Given the description of an element on the screen output the (x, y) to click on. 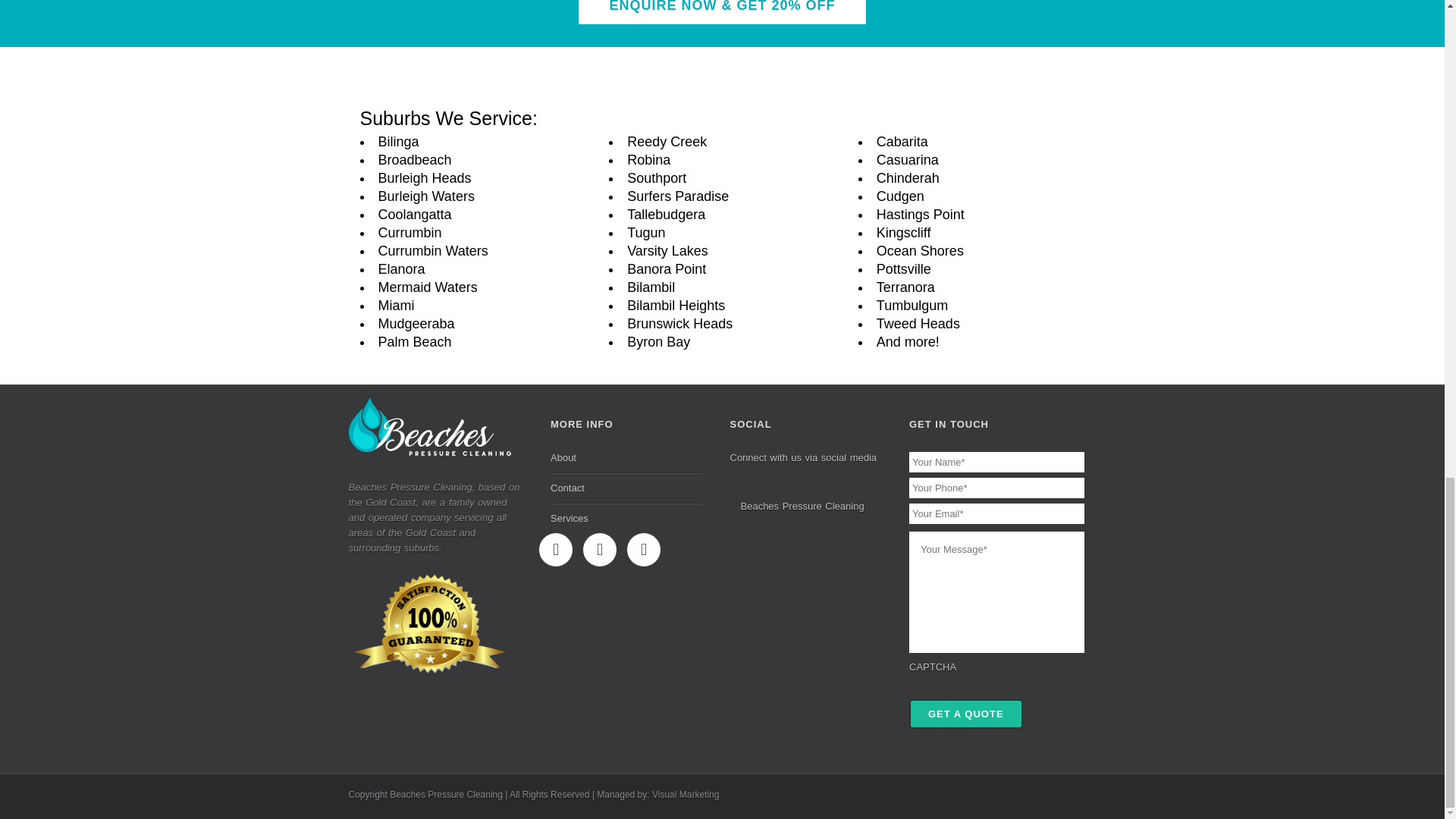
Get A Quote (965, 713)
About (625, 461)
Services (625, 518)
Contact (625, 487)
